Given the description of an element on the screen output the (x, y) to click on. 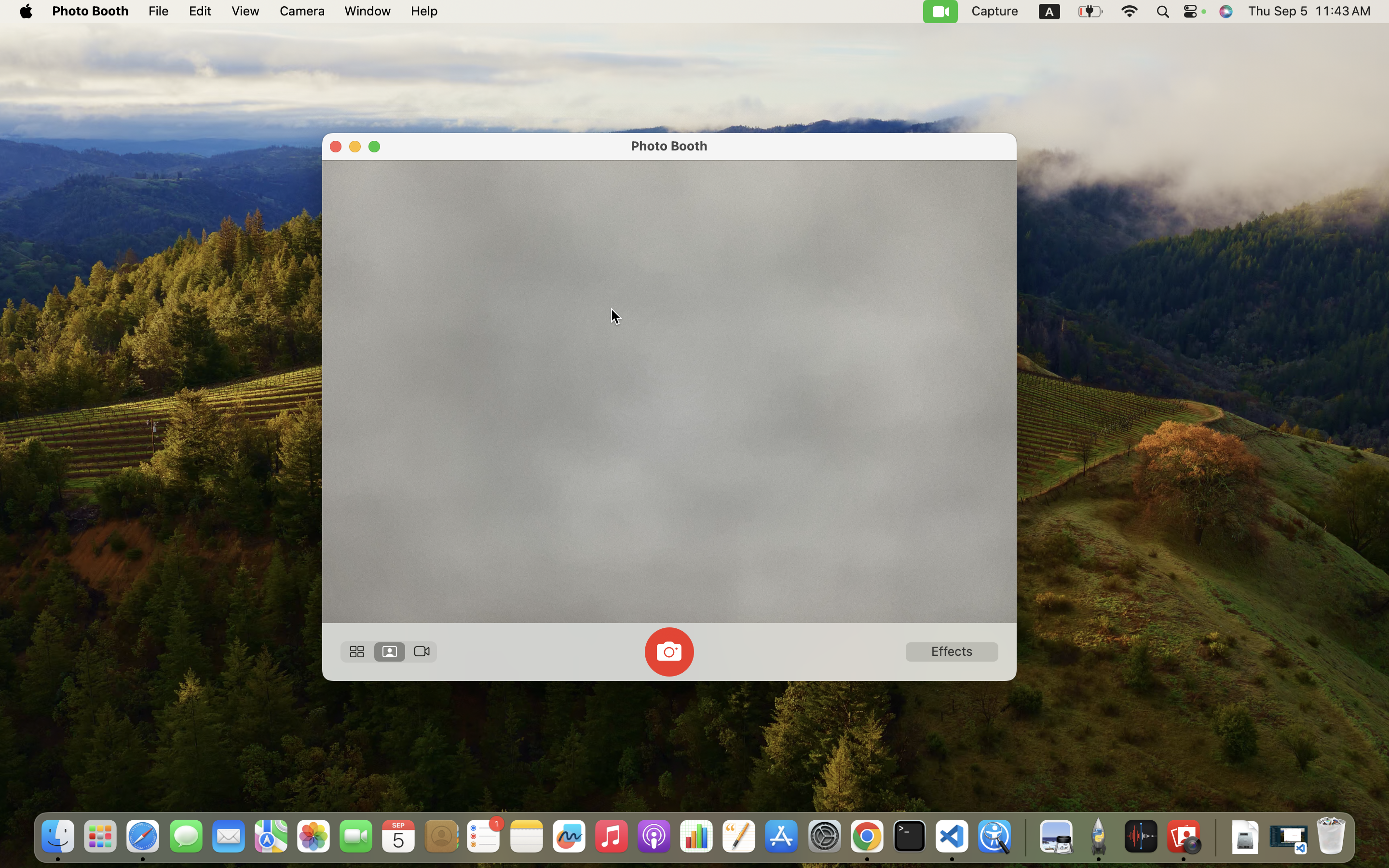
Photo Booth Element type: AXStaticText (668, 145)
<AXUIElement 0x286e97060> {pid=1653} Element type: AXRadioGroup (388, 651)
